Given the description of an element on the screen output the (x, y) to click on. 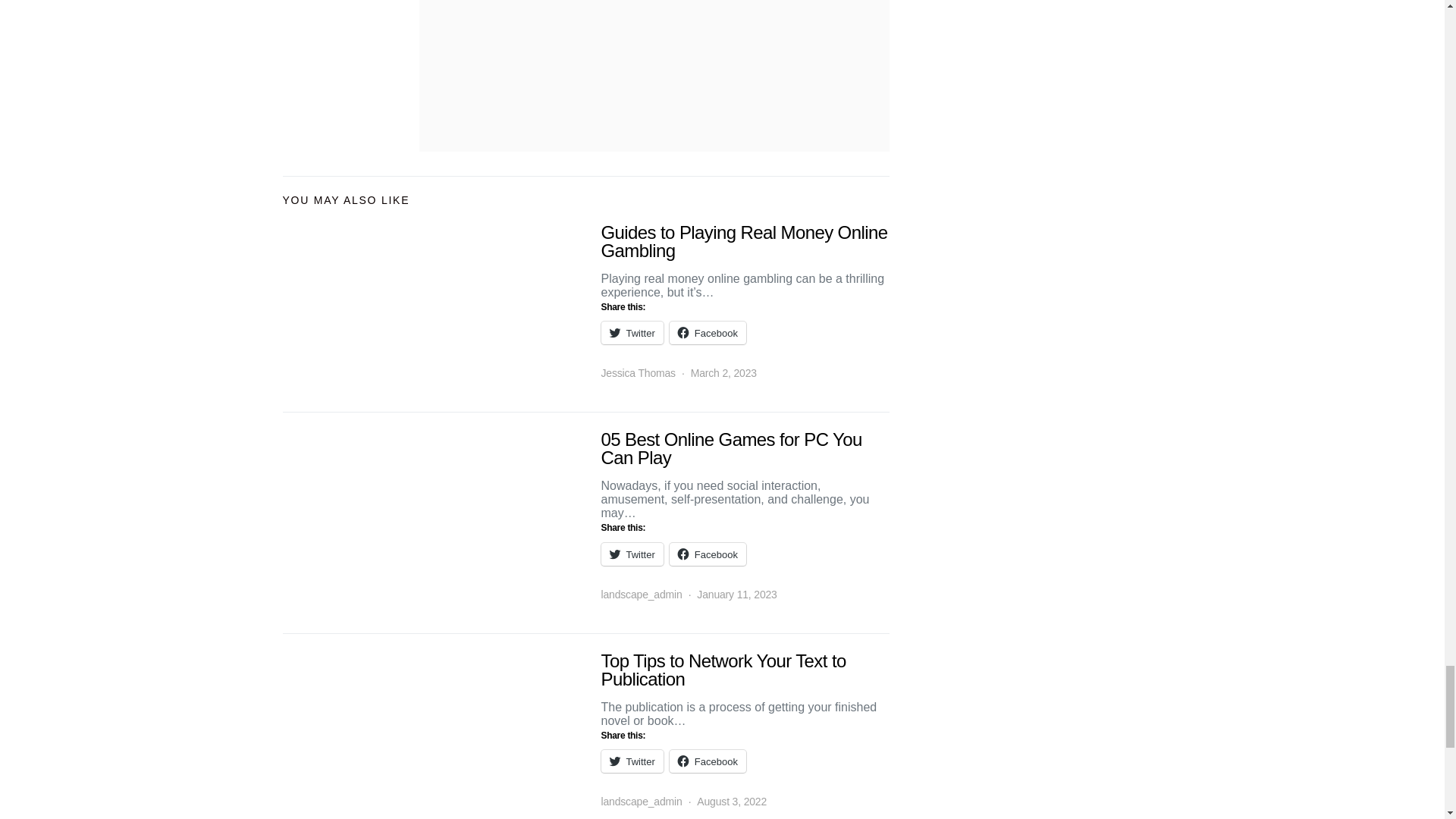
Click to share on Facebook (707, 553)
Click to share on Facebook (707, 761)
Click to share on Twitter (630, 553)
Click to share on Twitter (630, 761)
Click to share on Facebook (707, 332)
Click to share on Twitter (630, 332)
View all posts by Jessica Thomas (637, 373)
